Given the description of an element on the screen output the (x, y) to click on. 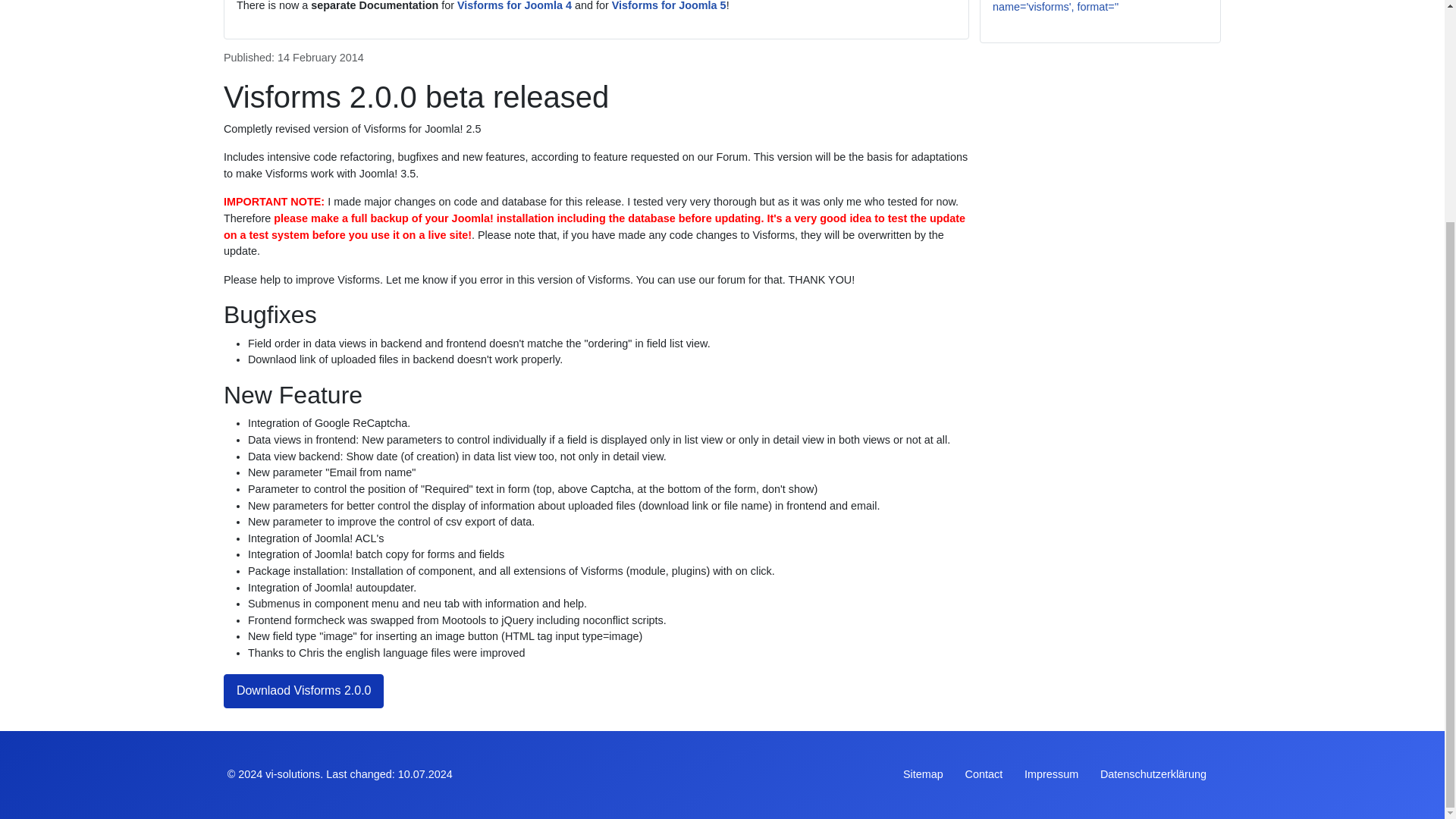
Downlaod Visforms 2.0.0 (304, 691)
Documentation for Visforms on Joomla 5 (668, 5)
Sitemap vi-solutions (922, 774)
Contact (984, 774)
Visforms for Joomla 5 (668, 5)
Sitemap (922, 774)
Documentation for Visforms on Joomla 4 (514, 5)
vi-solutions (292, 774)
Visforms for Joomla 4 (514, 5)
Visforms 2.0.0 download (304, 691)
